Given the description of an element on the screen output the (x, y) to click on. 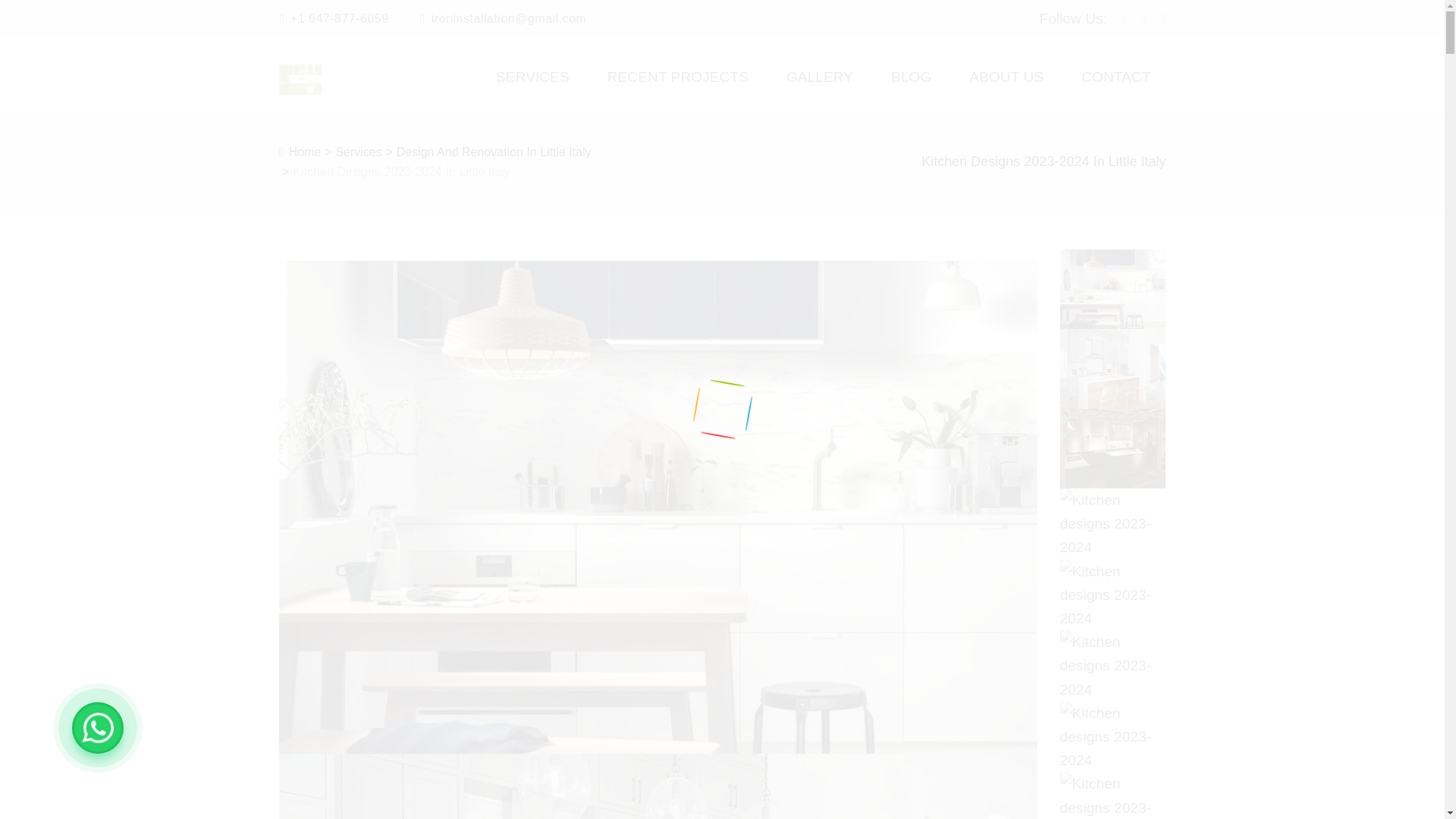
BLOG (911, 91)
Kitchen designs 2023-2024 (1112, 289)
SERVICES (532, 91)
RECENT PROJECTS (677, 91)
Kitchen designs 2023-2024 (1112, 594)
Kitchen designs 2023-2024 (1112, 368)
Kitchen designs 2023-2024 (1112, 665)
Kitchen designs 2023-2024 (300, 151)
